Given the description of an element on the screen output the (x, y) to click on. 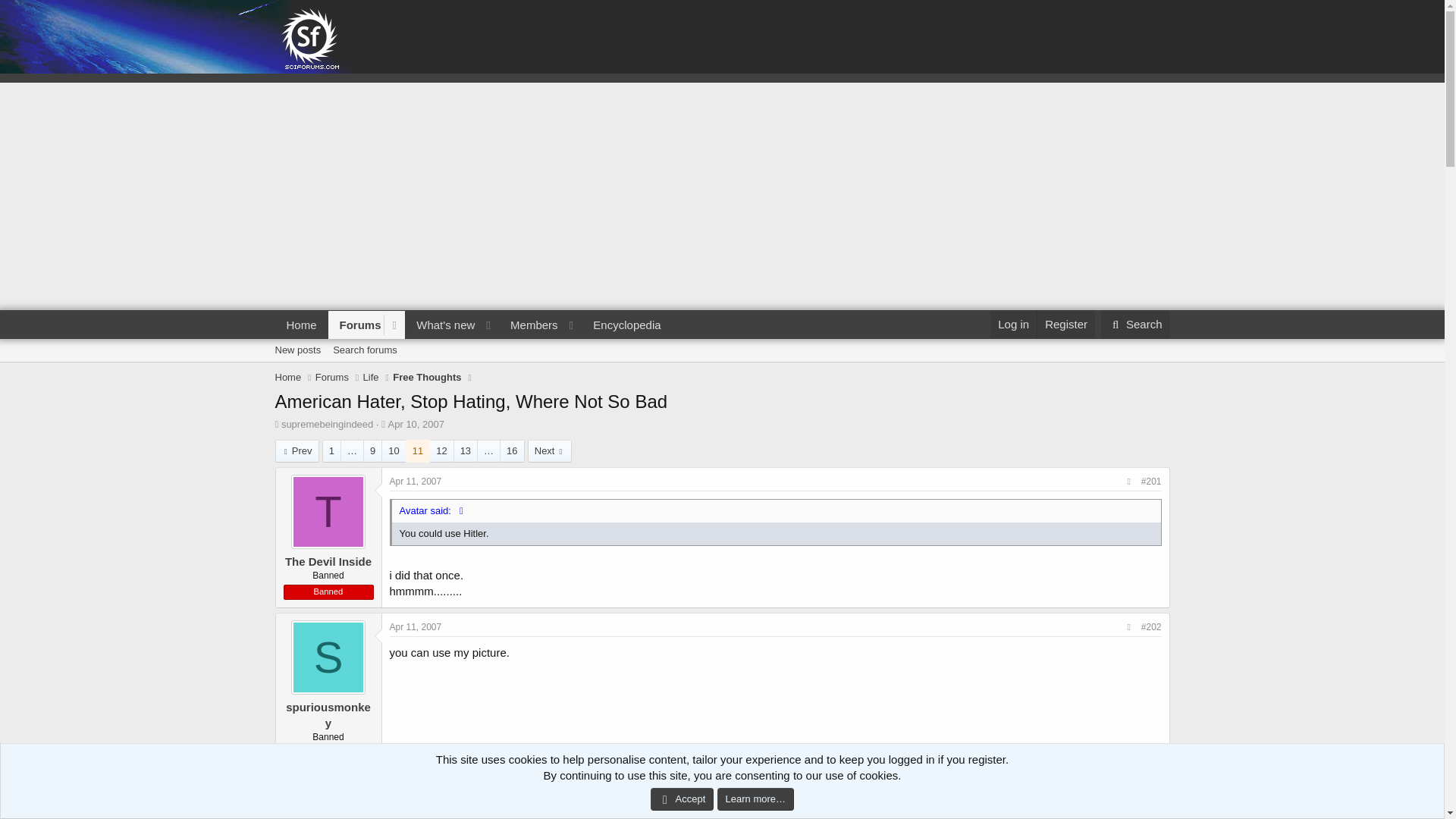
Free Thoughts (427, 377)
Home (301, 325)
New posts (296, 350)
What's new (440, 325)
Search (1135, 324)
Apr 10, 2007 at 5:20 AM (416, 423)
Search forums (364, 350)
Encyclopedia (625, 325)
Register (1065, 324)
